Given the description of an element on the screen output the (x, y) to click on. 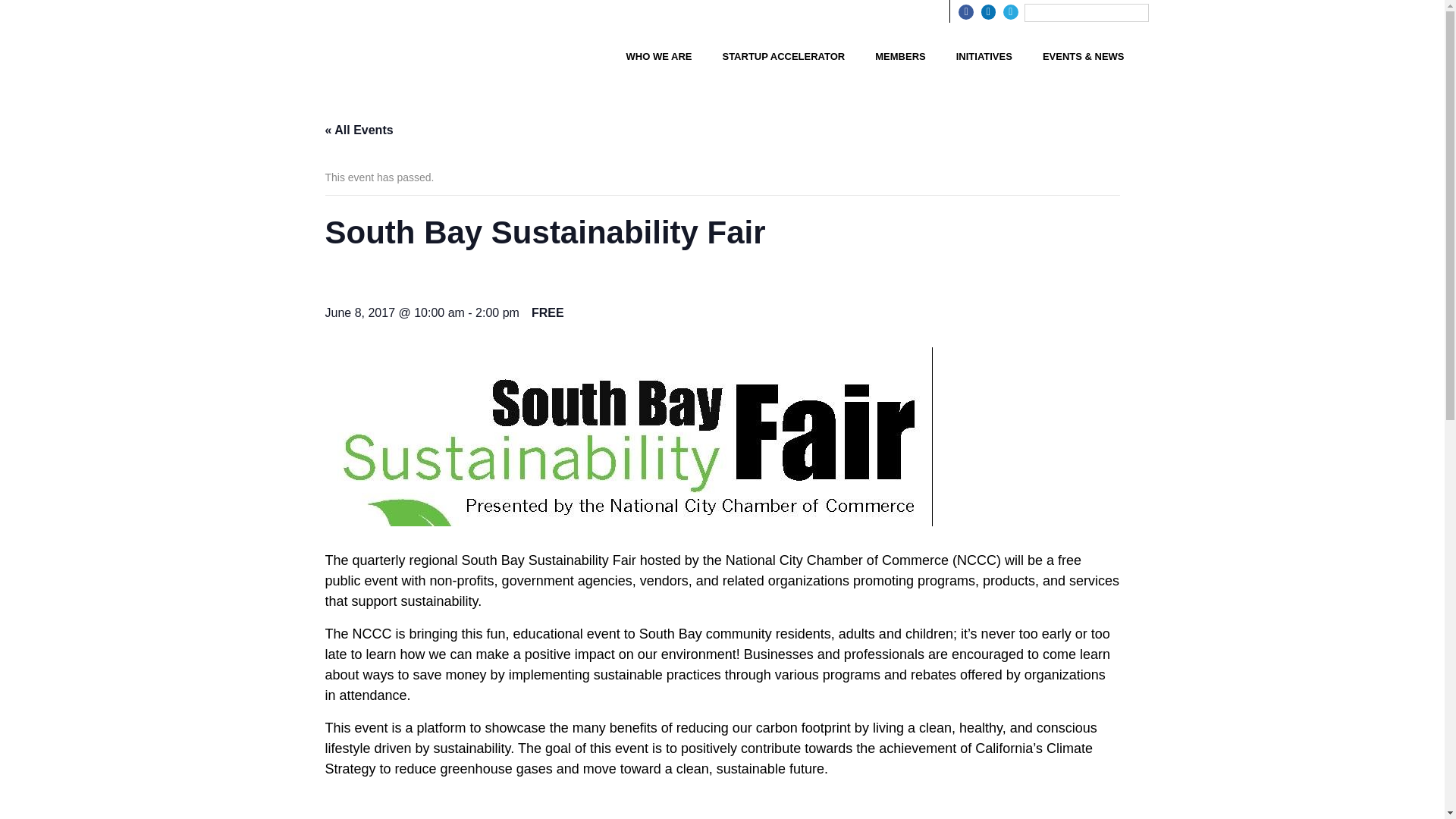
STARTUP ACCELERATOR (783, 56)
MEMBERS (900, 56)
WHO WE ARE (659, 56)
Search (57, 8)
INITIATIVES (983, 56)
